Given the description of an element on the screen output the (x, y) to click on. 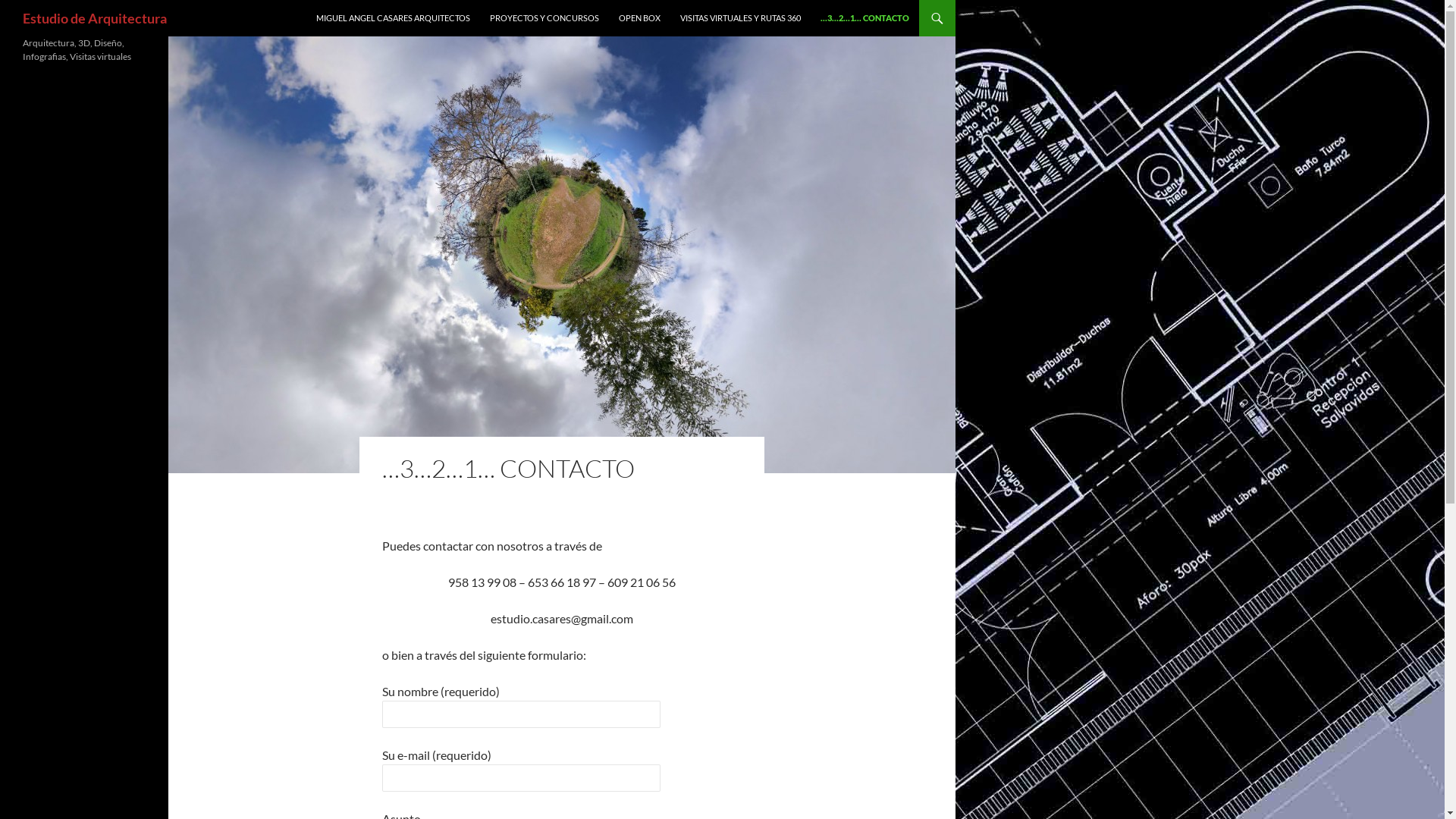
OPEN BOX Element type: text (639, 18)
MIGUEL ANGEL CASARES ARQUITECTOS Element type: text (393, 18)
Estudio de Arquitectura Element type: text (94, 18)
VISITAS VIRTUALES Y RUTAS 360 Element type: text (740, 18)
PROYECTOS Y CONCURSOS Element type: text (544, 18)
SALTAR AL CONTENIDO Element type: text (316, 0)
Buscar Element type: text (3, 0)
